Given the description of an element on the screen output the (x, y) to click on. 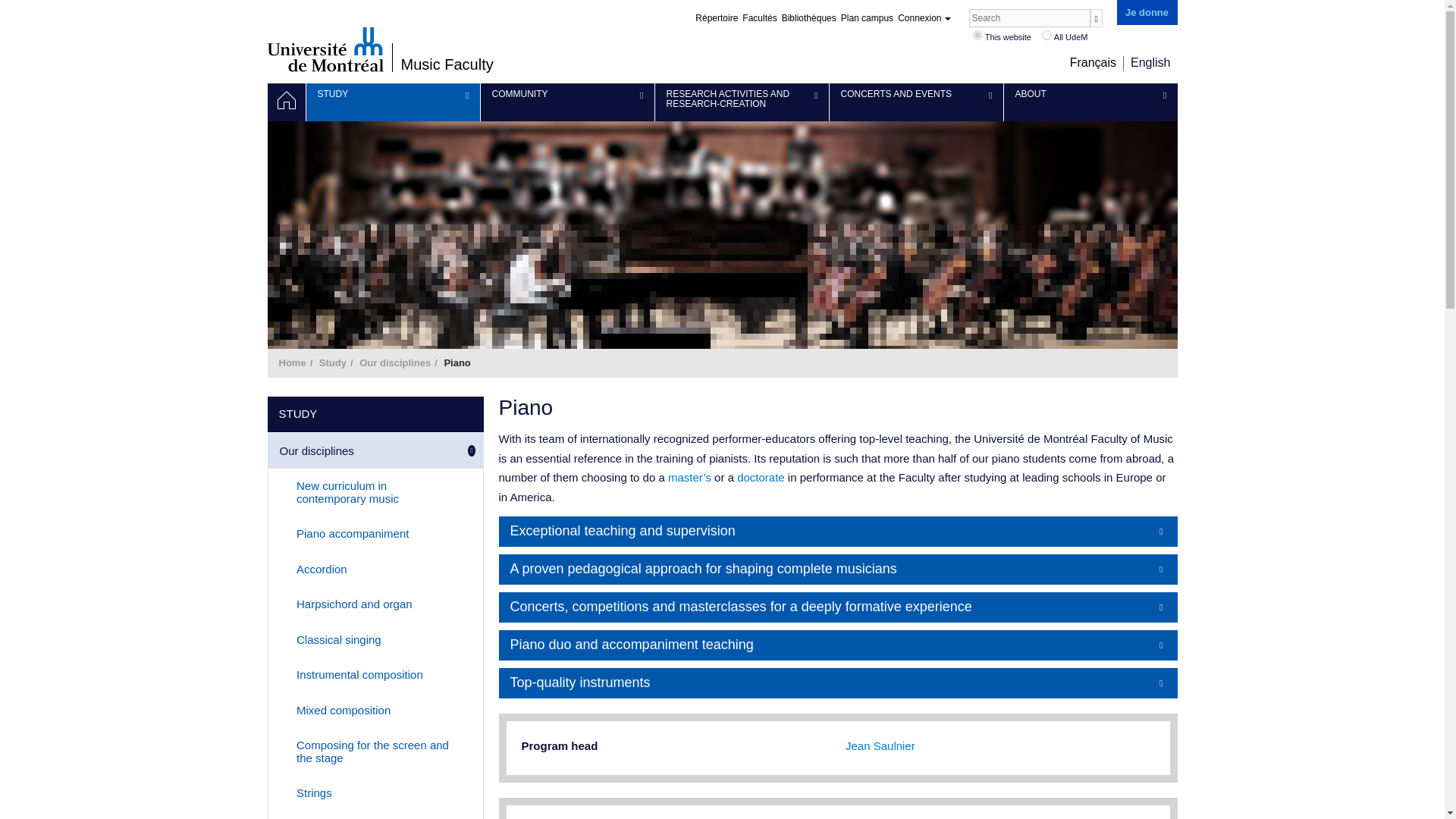
Je donne (1146, 12)
Home (285, 102)
English (1150, 62)
STUDY (392, 102)
HOME (285, 102)
Plan campus (867, 18)
Connexion (924, 18)
umontreal.ca (1046, 35)
musique.umontreal.ca (977, 35)
COMMUNITY (566, 102)
